Given the description of an element on the screen output the (x, y) to click on. 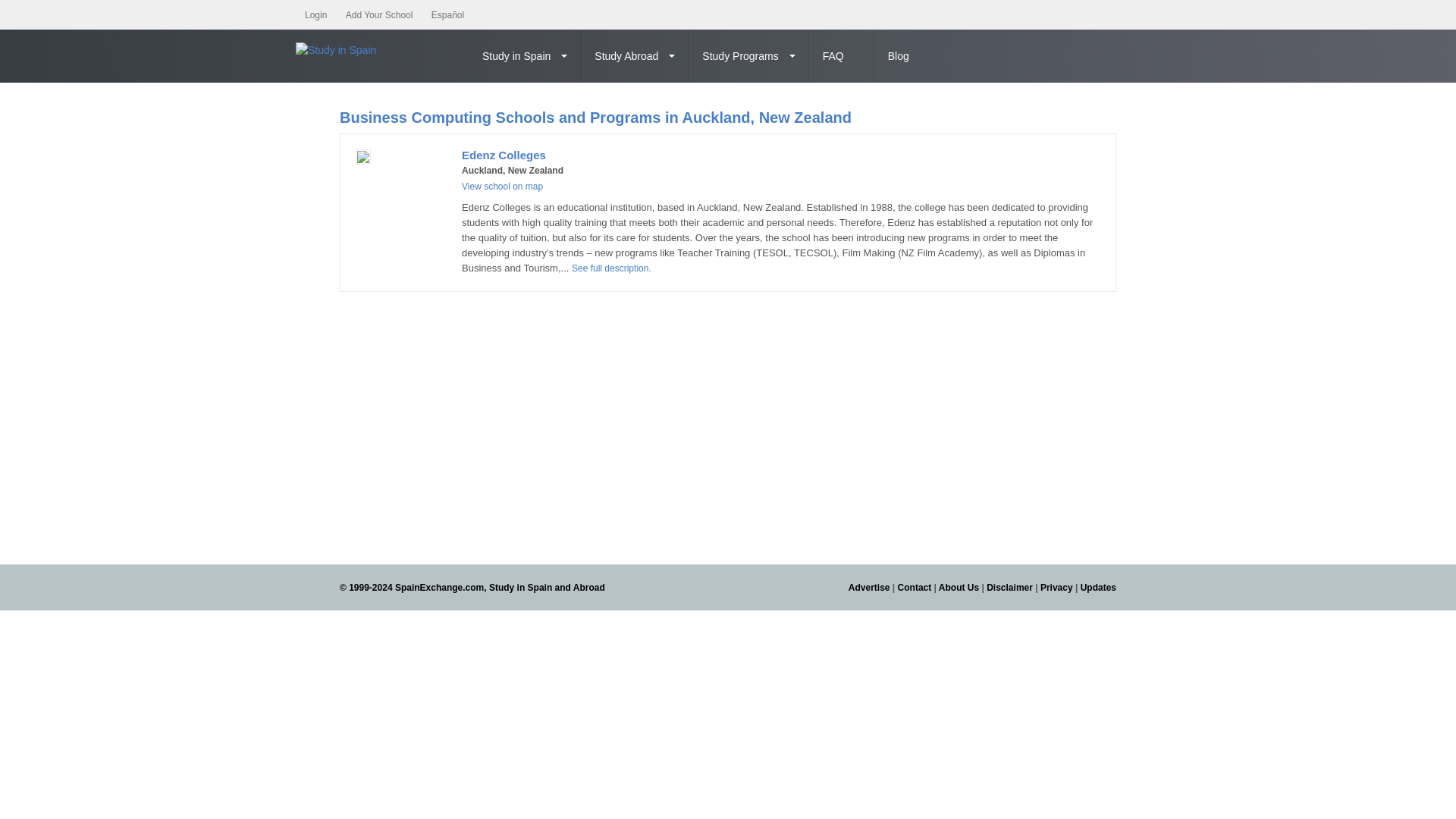
Add Your School (379, 14)
Study Abroad (634, 55)
Study in Spain (524, 55)
Login (315, 14)
Study Programs (748, 55)
